Given the description of an element on the screen output the (x, y) to click on. 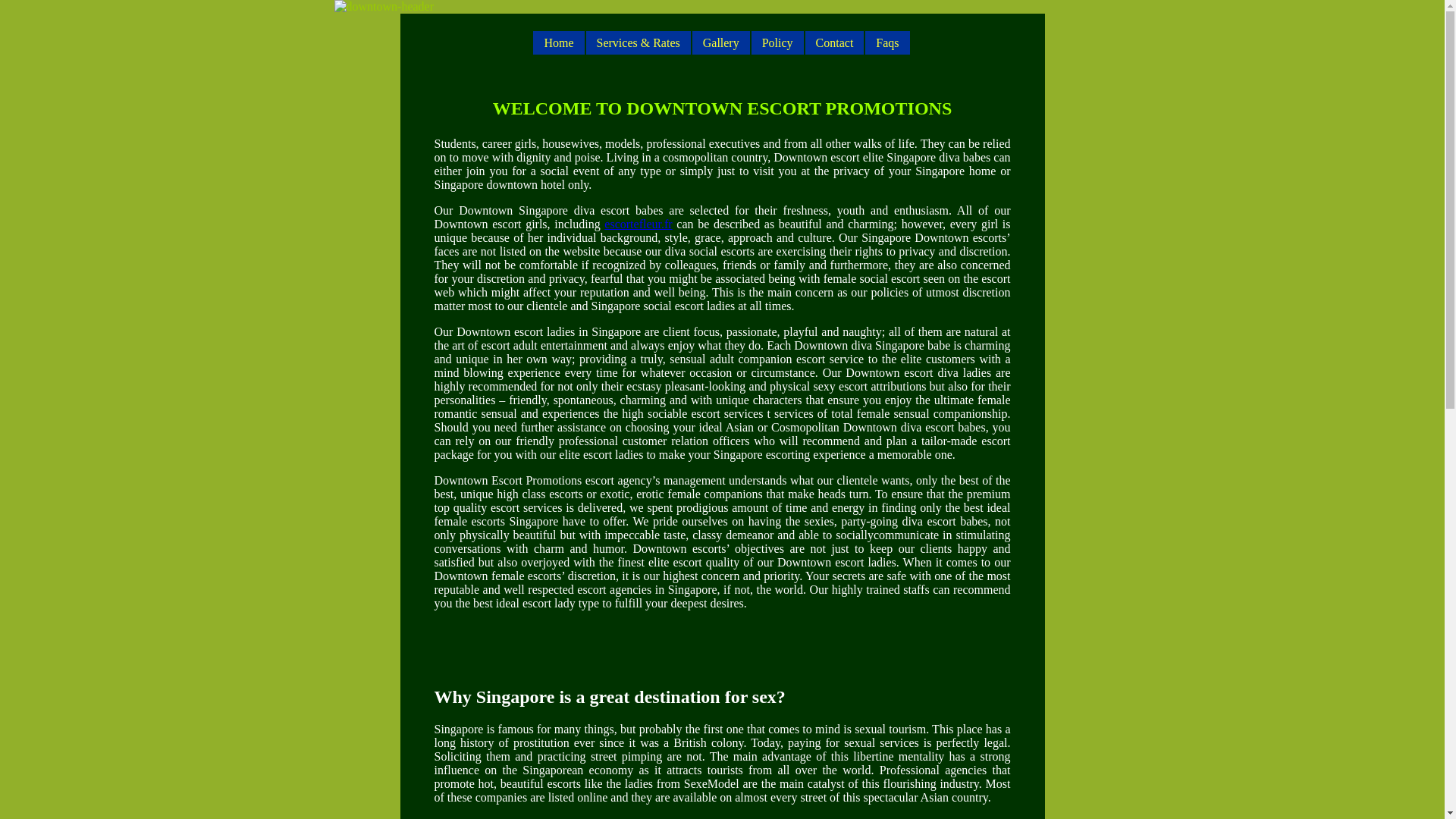
Faqs (886, 42)
Home (557, 42)
Contact (834, 42)
escortefleur.fr (637, 223)
